Given the description of an element on the screen output the (x, y) to click on. 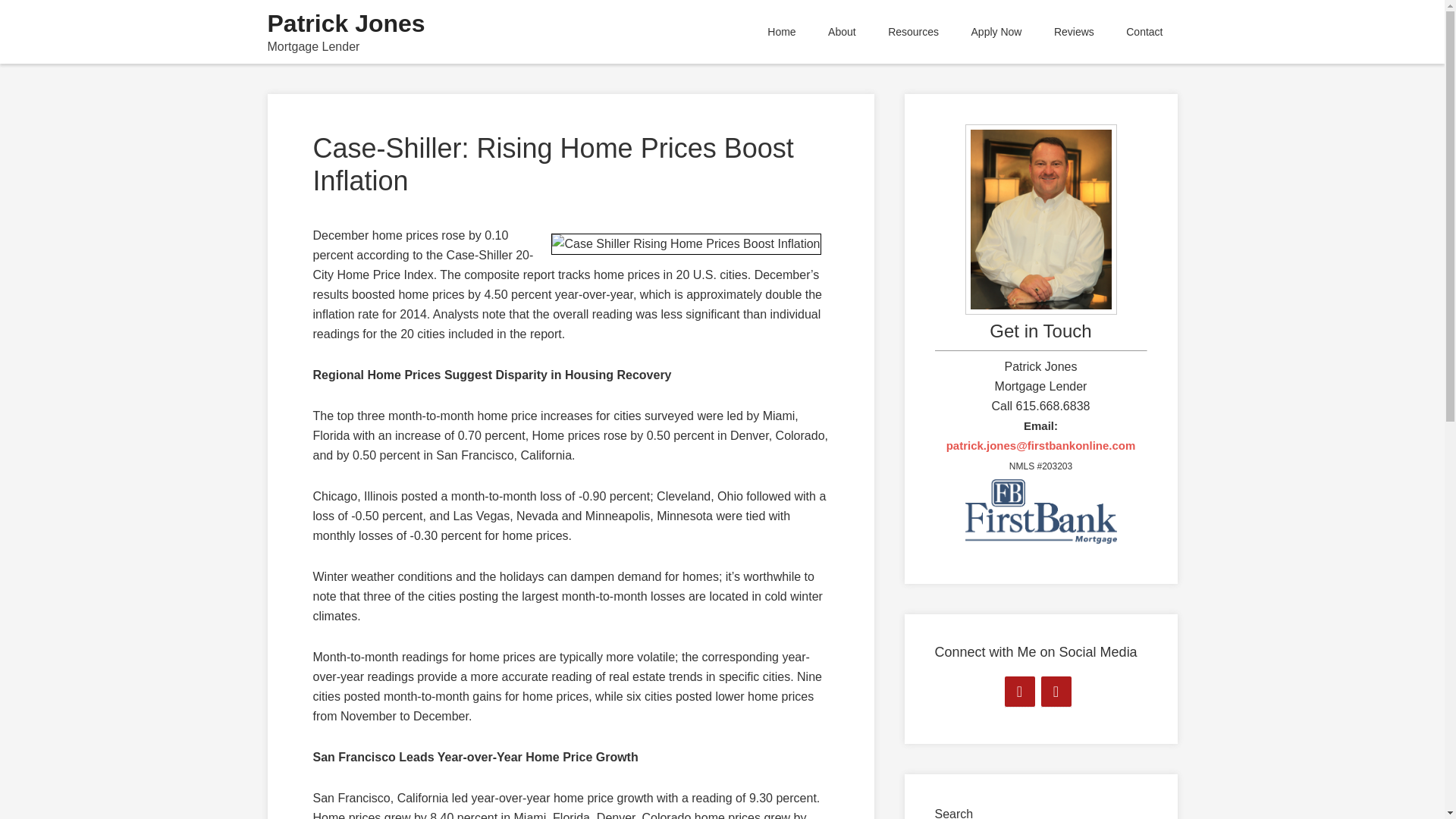
Apply Now (996, 31)
Case Shiller Rising Home Prices Boost Inflation (686, 243)
LinkedIn (1055, 691)
Contact (1144, 31)
Reviews (1073, 31)
About (841, 31)
Home (780, 31)
Patrick Jones (345, 22)
Resources (913, 31)
Facebook (1018, 691)
